Given the description of an element on the screen output the (x, y) to click on. 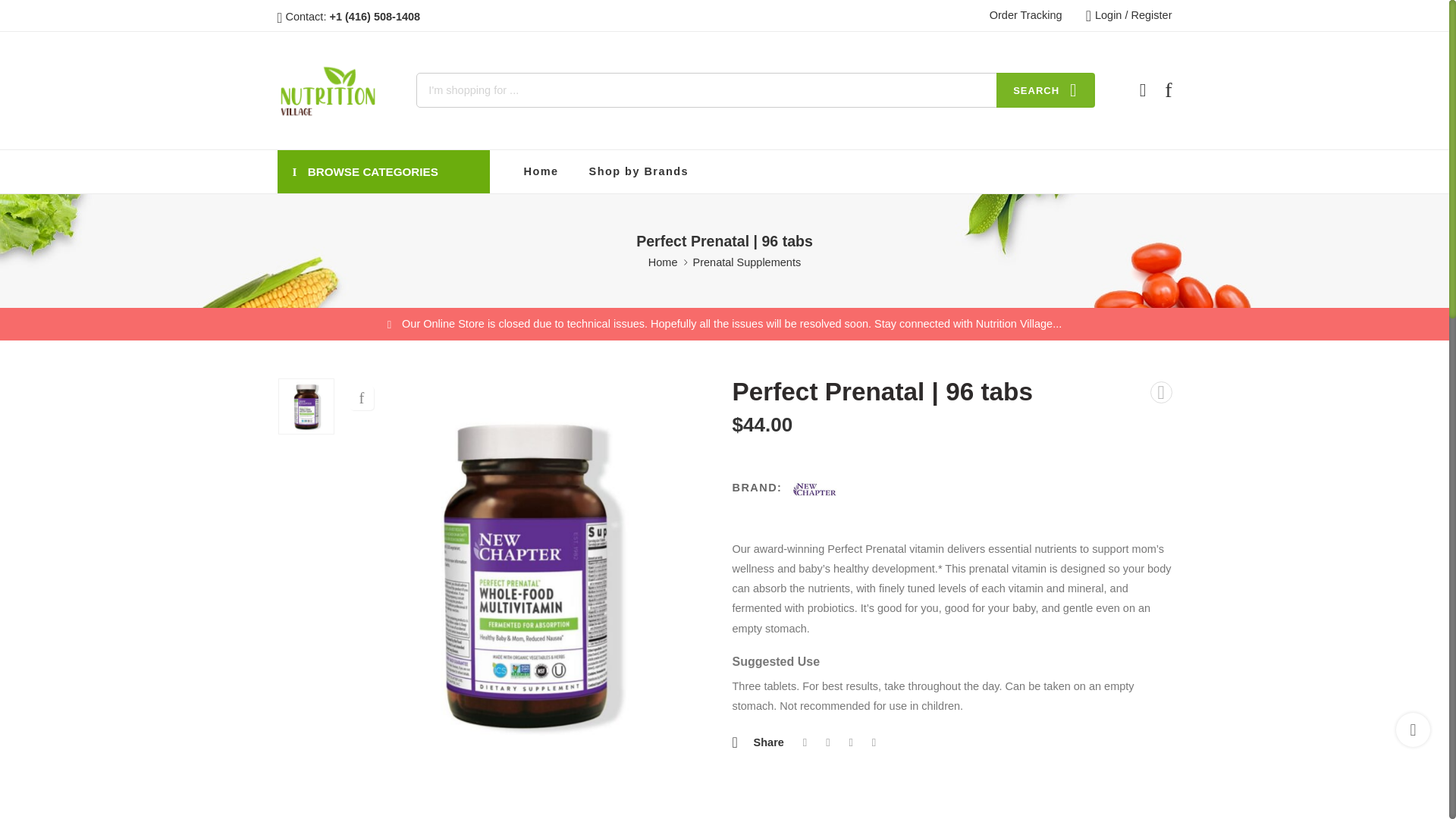
Home (662, 262)
Cart (1142, 89)
SEARCH (1044, 89)
Shop by Brands (638, 171)
Order Tracking (1026, 15)
Nutrition Village Inc - Supplements in Canada (328, 90)
Prenatal Supplements (747, 262)
Order Tracking (1026, 15)
